Given the description of an element on the screen output the (x, y) to click on. 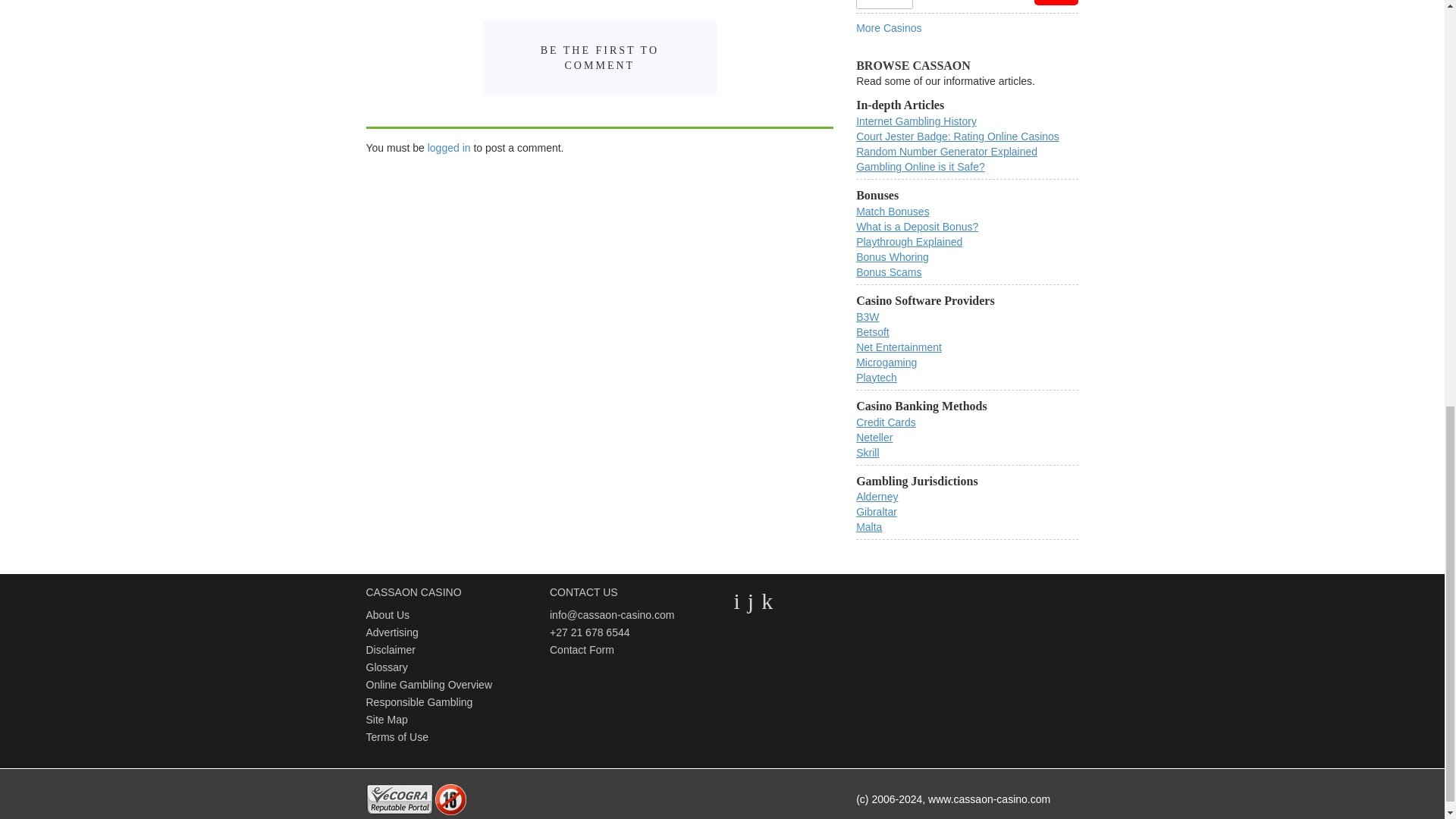
Like Us gplus (767, 600)
Follow Us on Facebook (751, 600)
logged in (449, 147)
Follow Us On Twitter (736, 600)
